Given the description of an element on the screen output the (x, y) to click on. 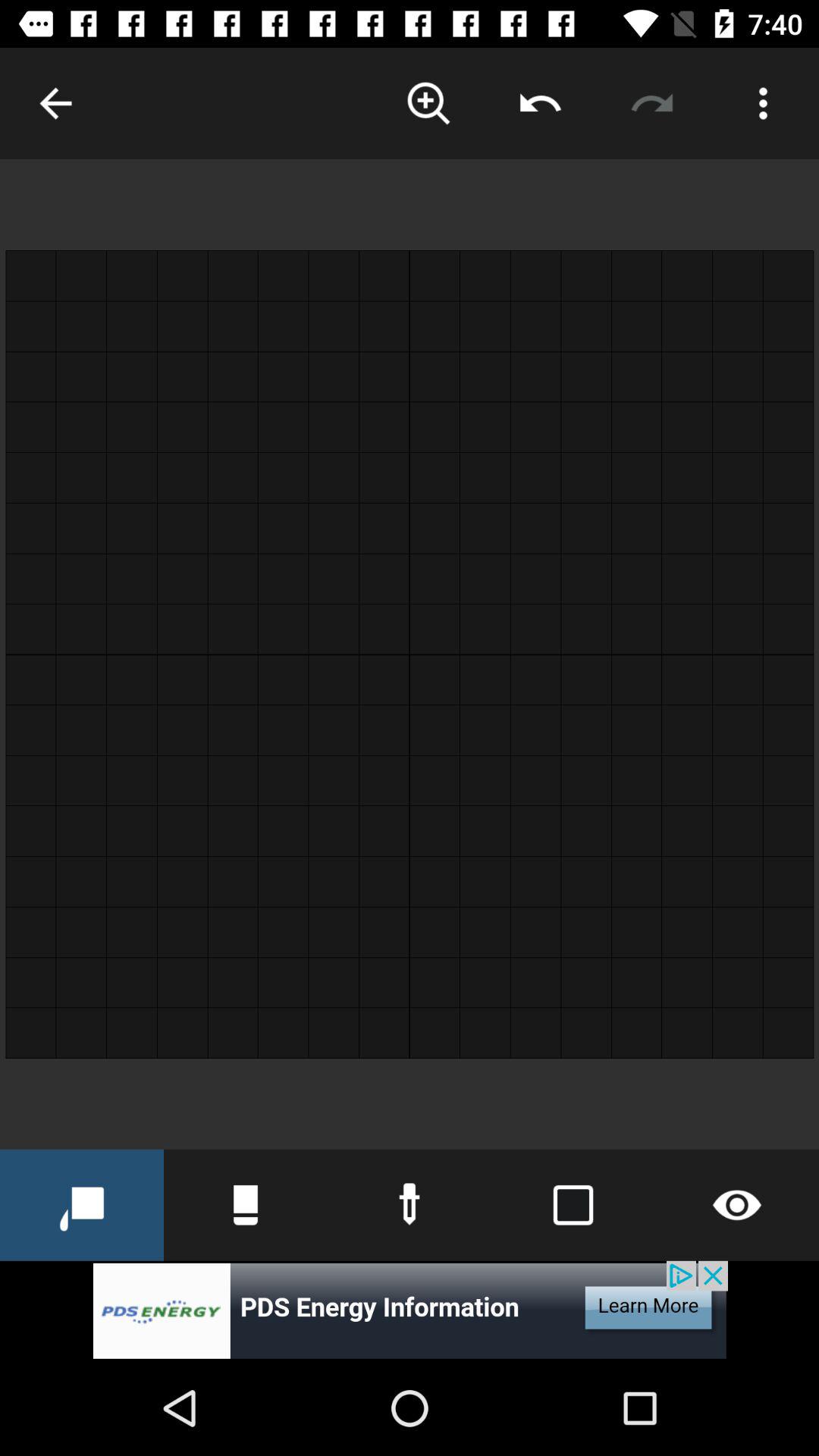
banner advertisement (409, 1310)
